Given the description of an element on the screen output the (x, y) to click on. 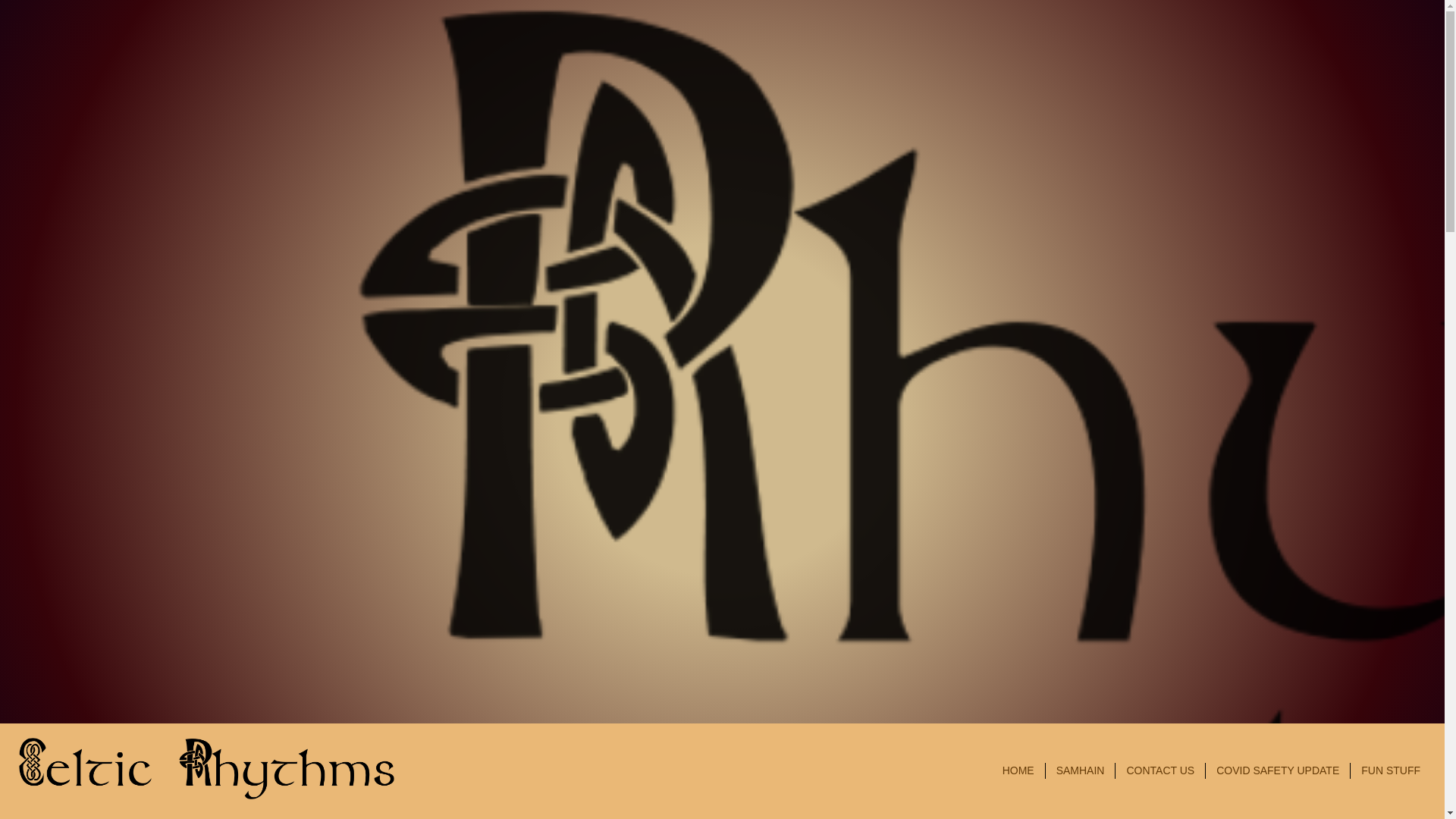
COVID SAFETY UPDATE (1277, 770)
HOME (1018, 770)
CONTACT US (1159, 770)
FUN STUFF (1391, 770)
SAMHAIN (1081, 770)
